Given the description of an element on the screen output the (x, y) to click on. 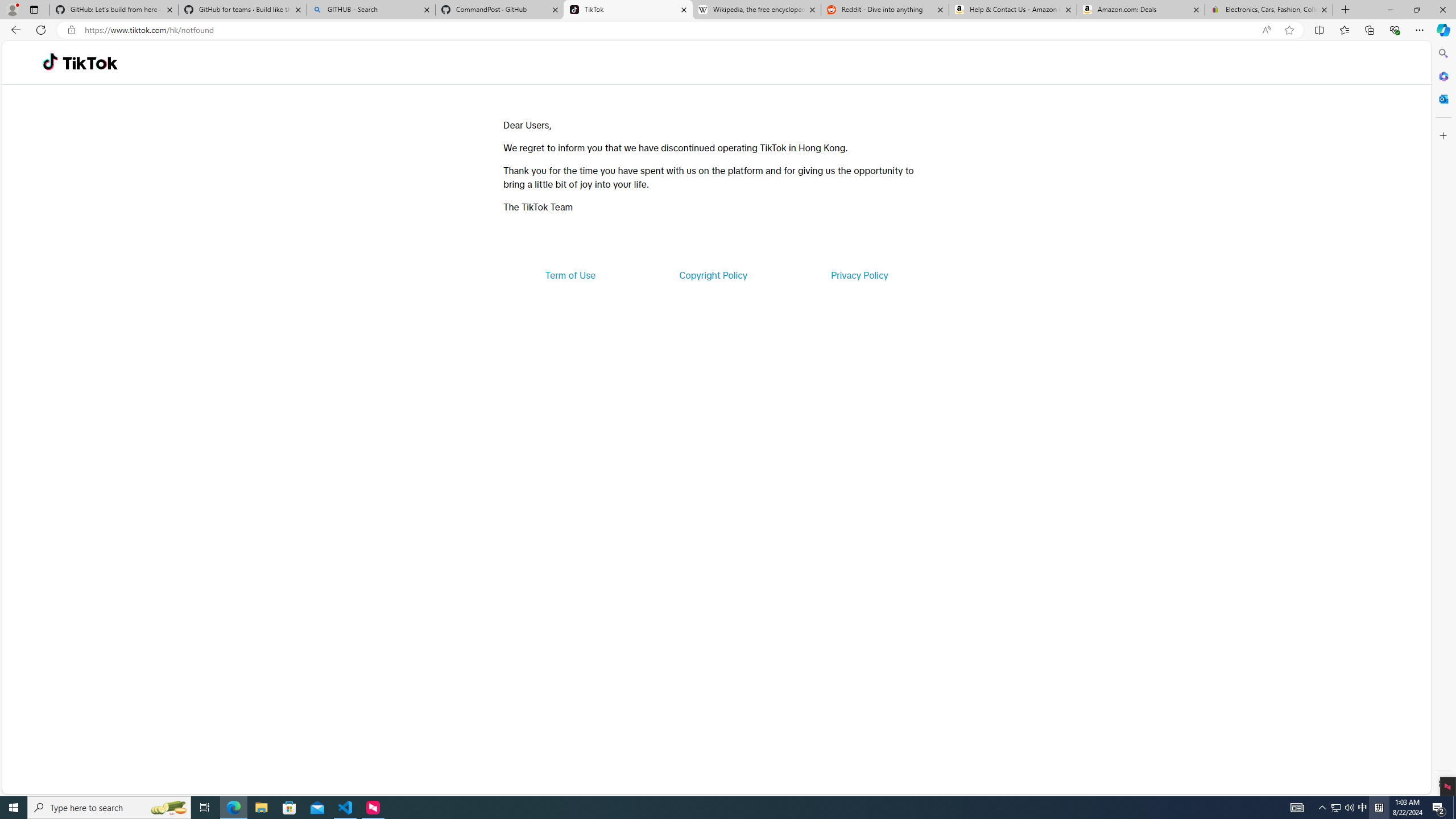
TikTok (89, 62)
Privacy Policy (858, 274)
Term of Use (569, 274)
Electronics, Cars, Fashion, Collectibles & More | eBay (1268, 9)
